Given the description of an element on the screen output the (x, y) to click on. 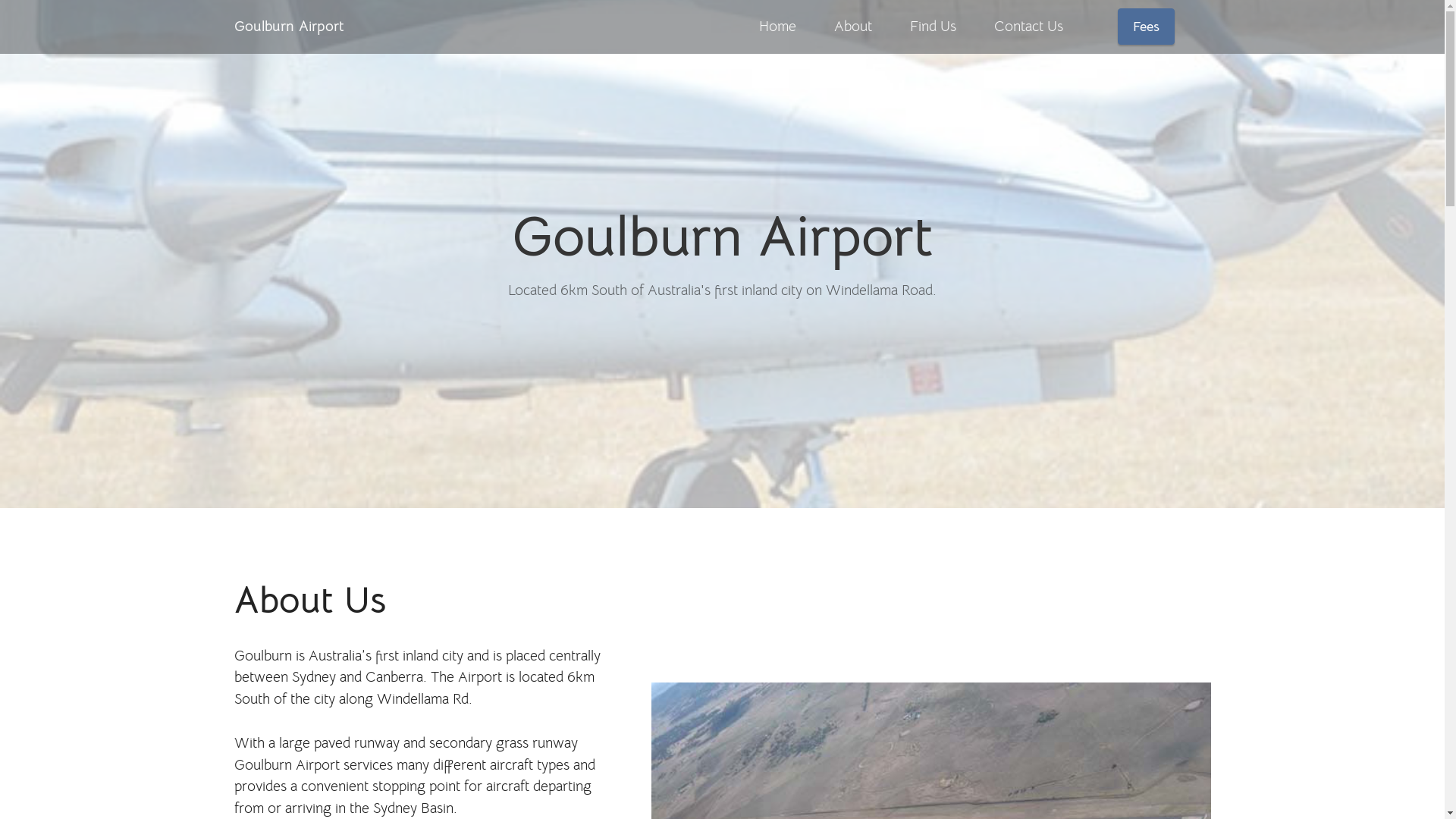
Find Us Element type: text (932, 26)
Home Element type: text (777, 26)
About Element type: text (852, 26)
Fees Element type: text (1145, 26)
Contact Us Element type: text (1028, 26)
Goulburn Airport Element type: text (288, 25)
